Given the description of an element on the screen output the (x, y) to click on. 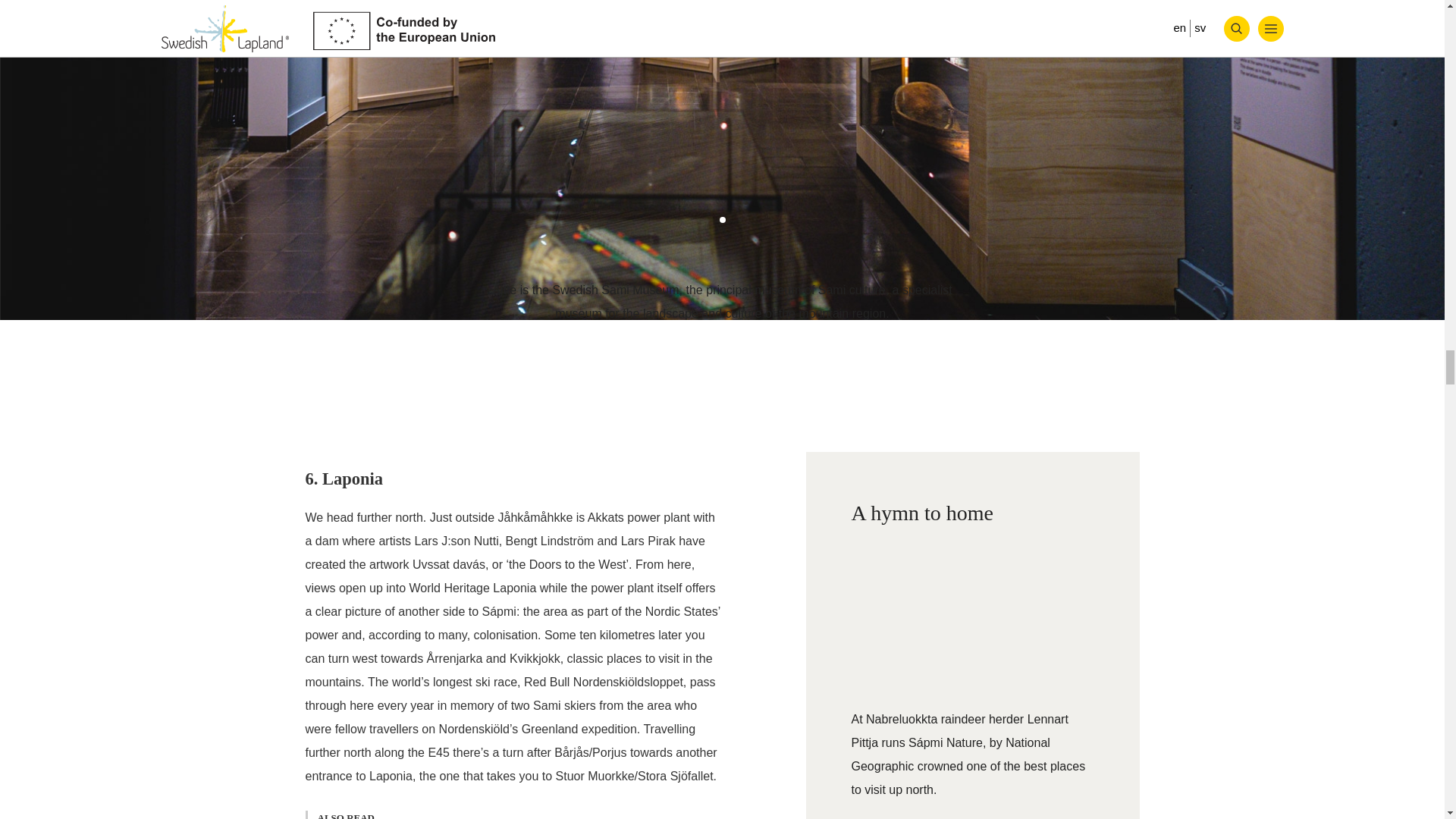
YouTube video player (971, 608)
